Given the description of an element on the screen output the (x, y) to click on. 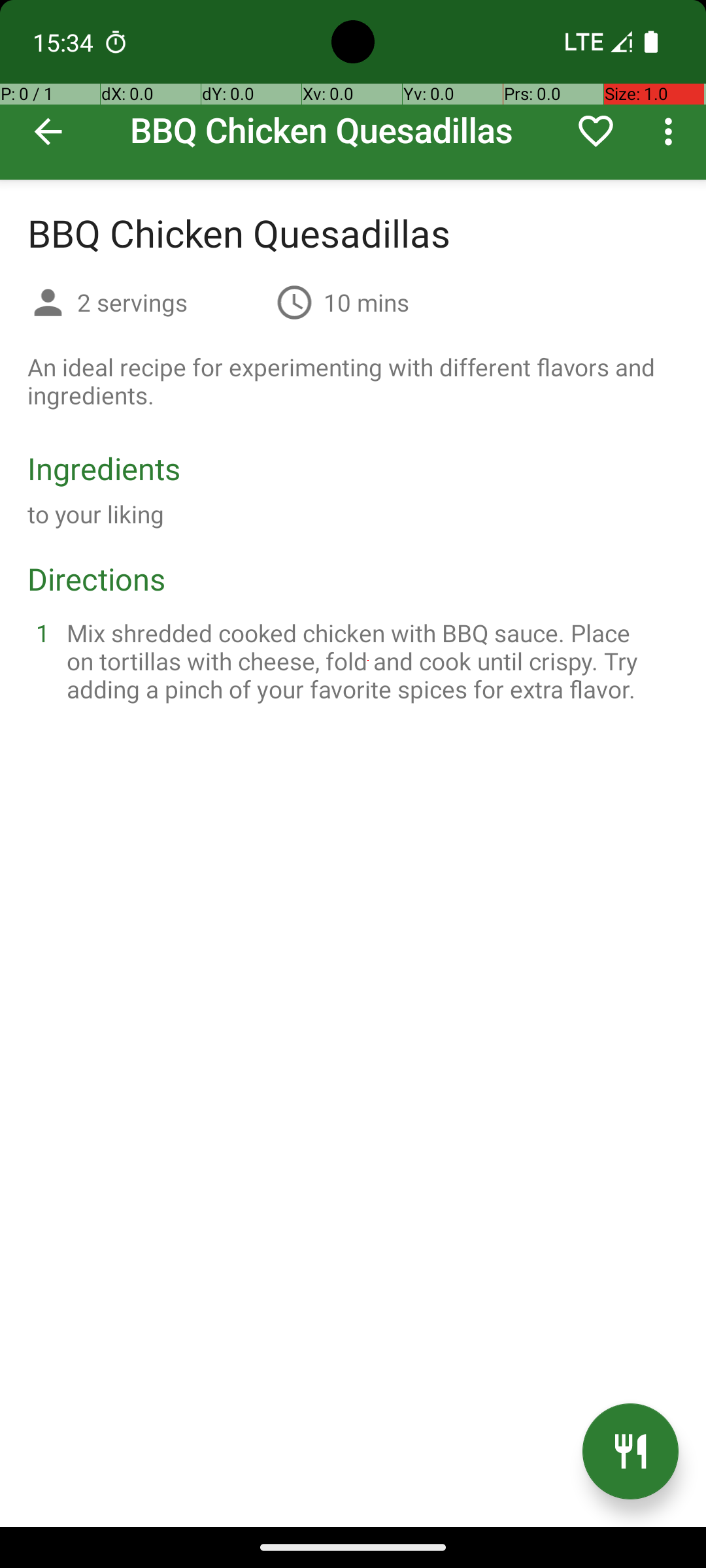
Mix shredded cooked chicken with BBQ sauce. Place on tortillas with cheese, fold and cook until crispy. Try adding a pinch of your favorite spices for extra flavor. Element type: android.widget.TextView (368, 660)
